Given the description of an element on the screen output the (x, y) to click on. 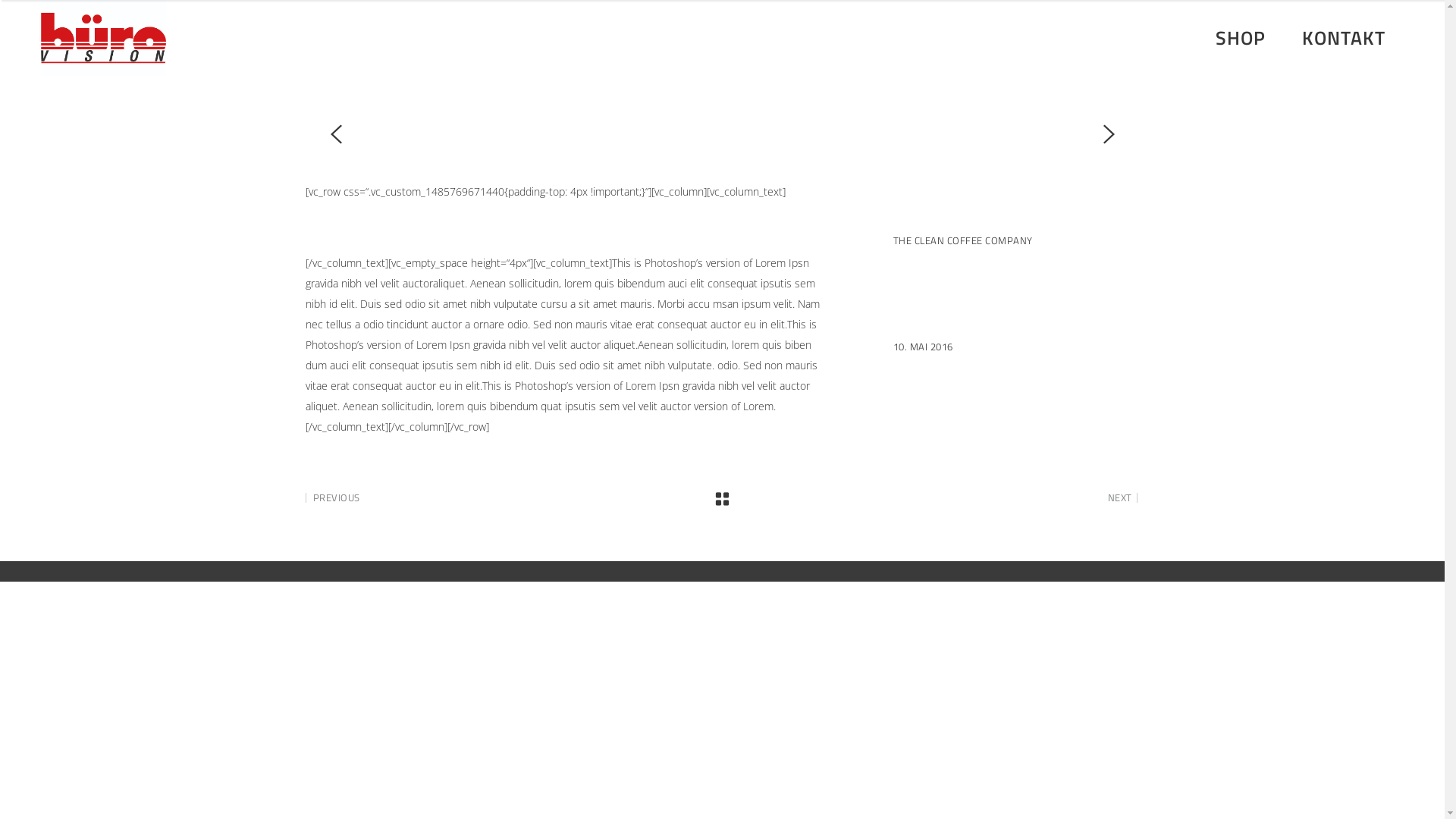
SHOP Element type: text (1240, 37)
PREVIOUS Element type: text (331, 497)
KONTAKT Element type: text (1343, 37)
FURNITURE Element type: text (919, 293)
NEXT Element type: text (1123, 497)
+41 81 756 13 00 Element type: text (1100, 37)
